Given the description of an element on the screen output the (x, y) to click on. 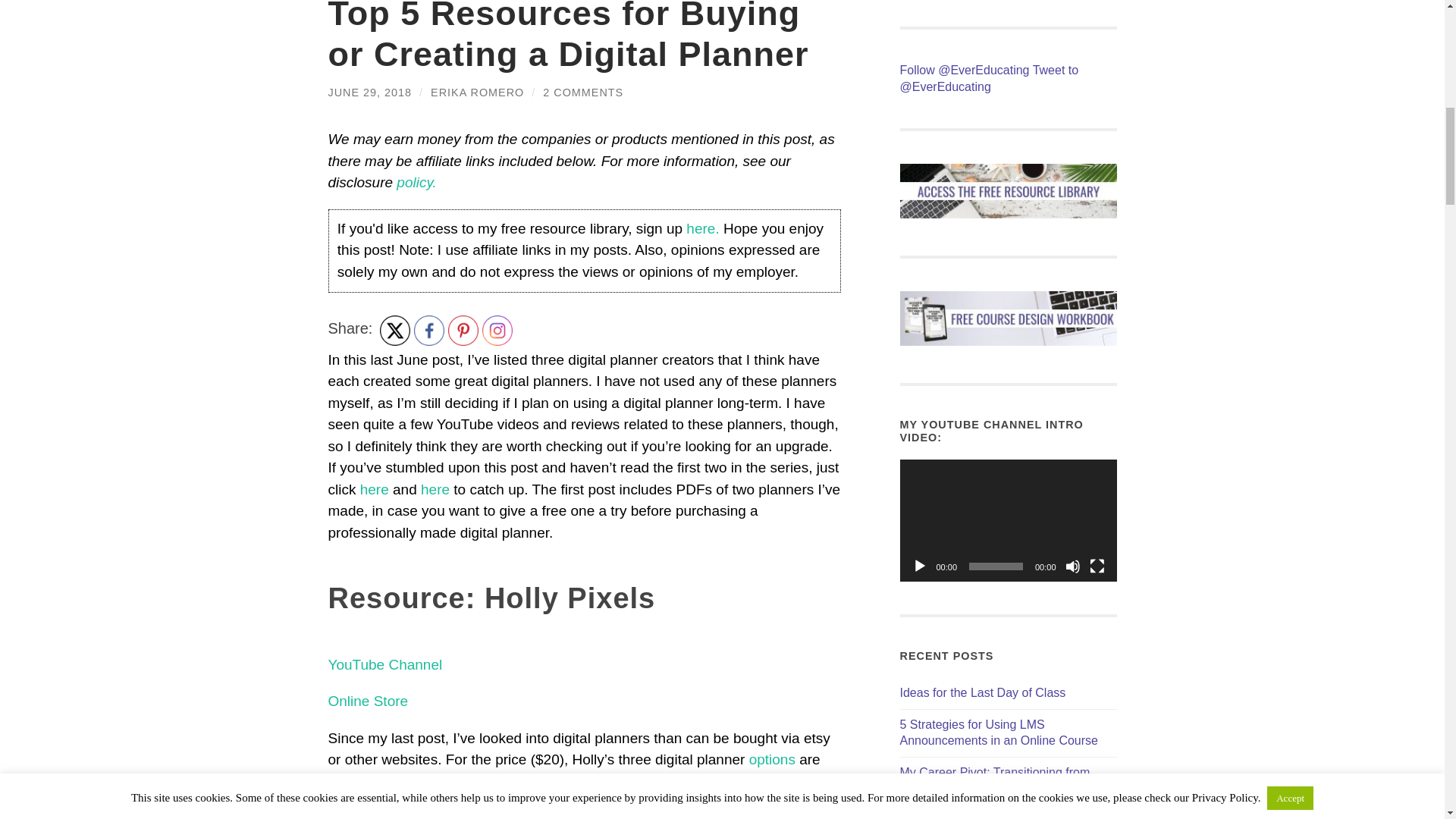
Facebook (428, 330)
Pinterest (463, 330)
INSTAGRAM (496, 330)
Posts by Erika Romero (477, 92)
Twitter (395, 330)
